Given the description of an element on the screen output the (x, y) to click on. 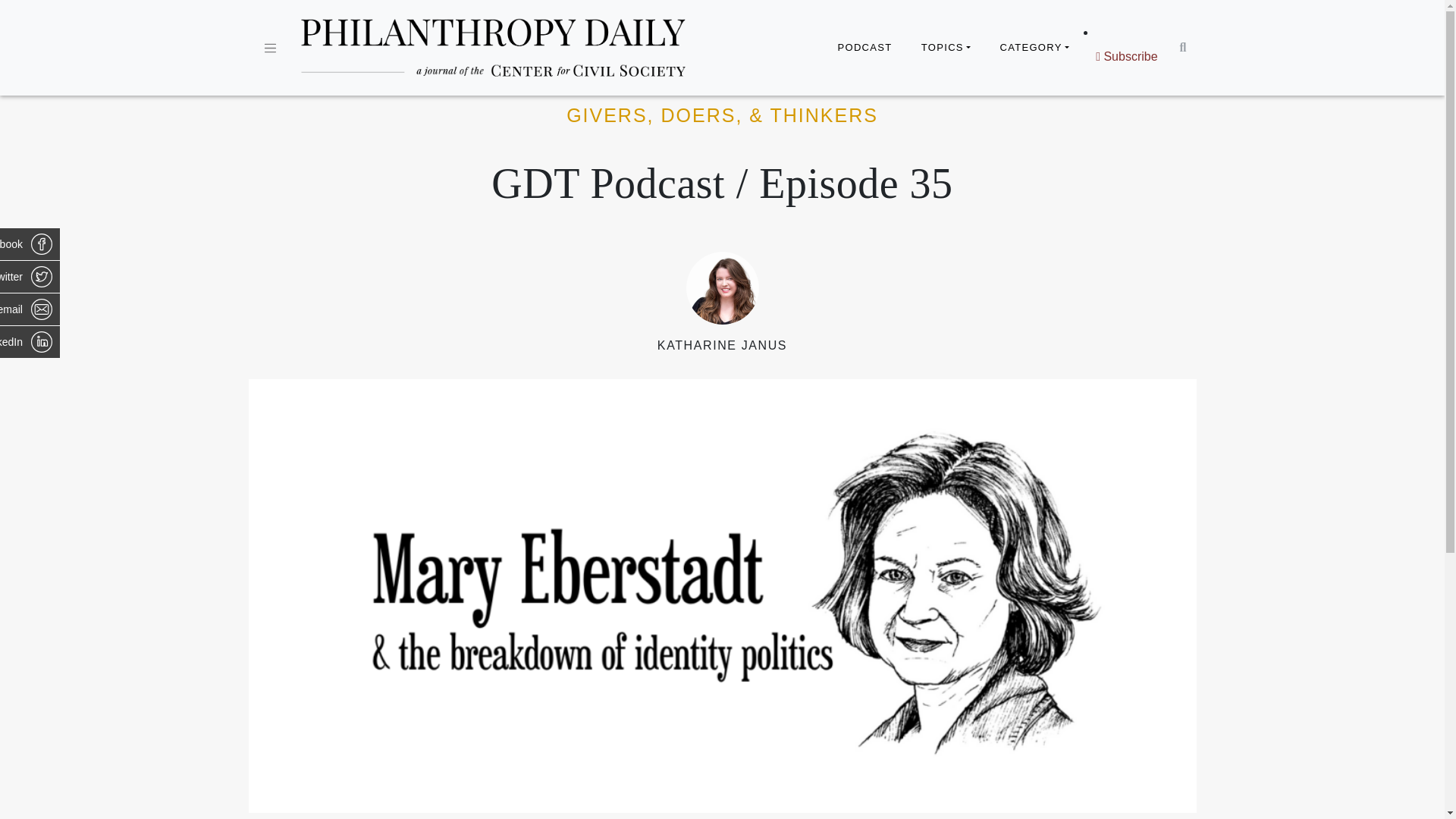
Share on LinkedIn (29, 341)
Share on Twitter (29, 276)
PODCAST (864, 47)
Share via email (29, 309)
  Share on Facebook (29, 244)
TOPICS (945, 47)
